Given the description of an element on the screen output the (x, y) to click on. 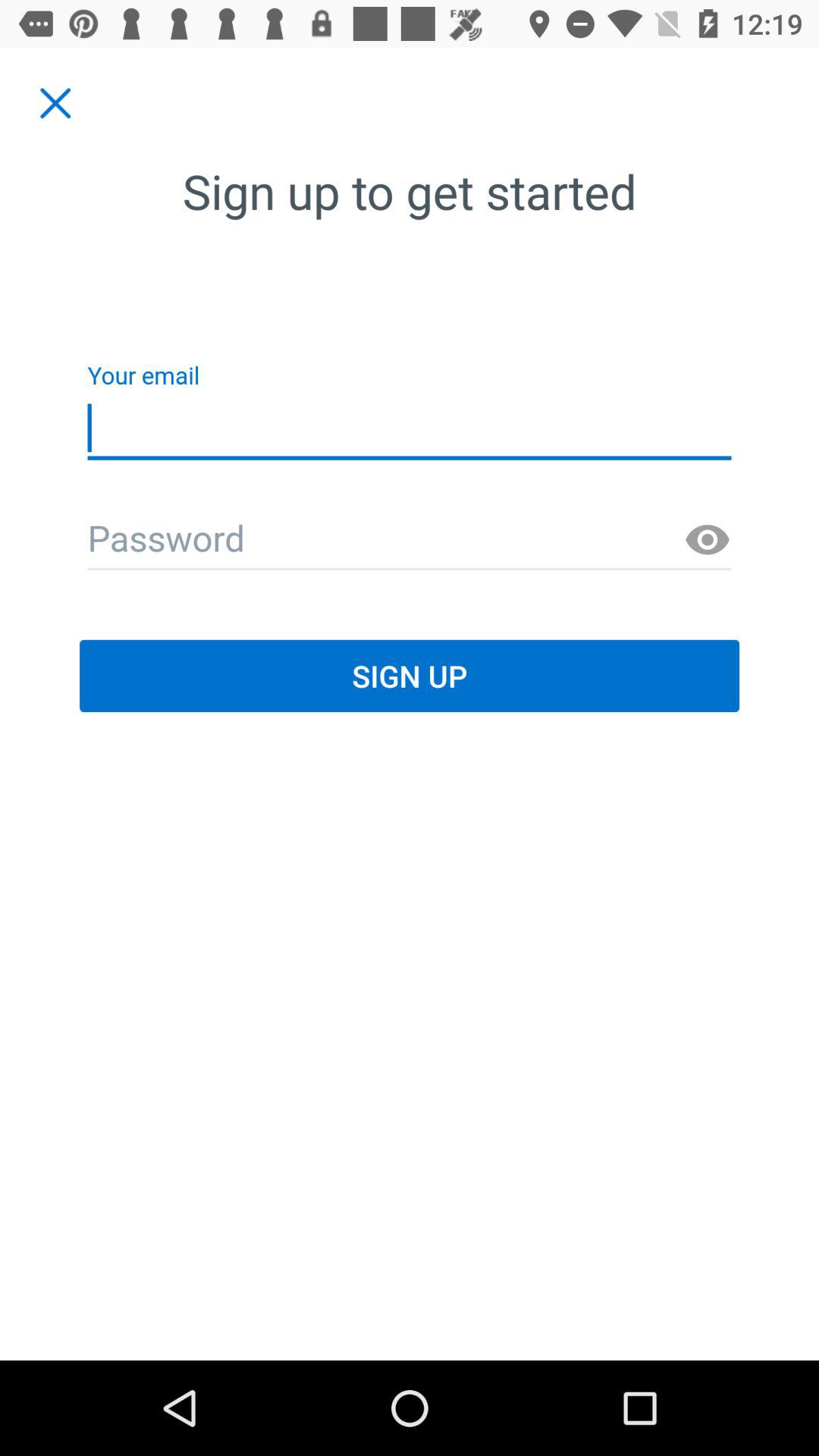
enter password field (409, 540)
